Given the description of an element on the screen output the (x, y) to click on. 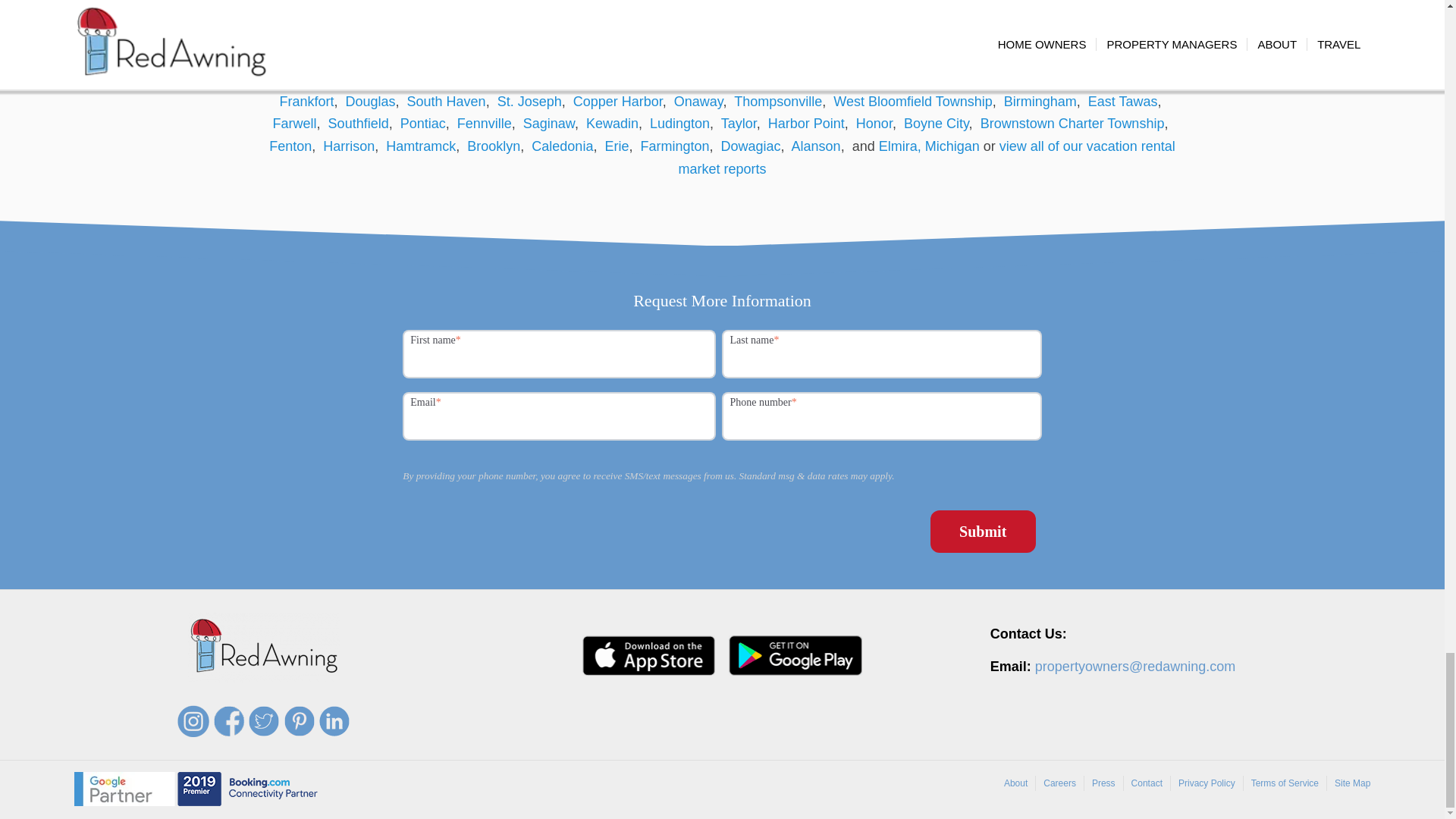
Footer Booking Image (247, 788)
Submit (982, 531)
RedAwning Logo (263, 647)
Footer Google Image (124, 788)
